Given the description of an element on the screen output the (x, y) to click on. 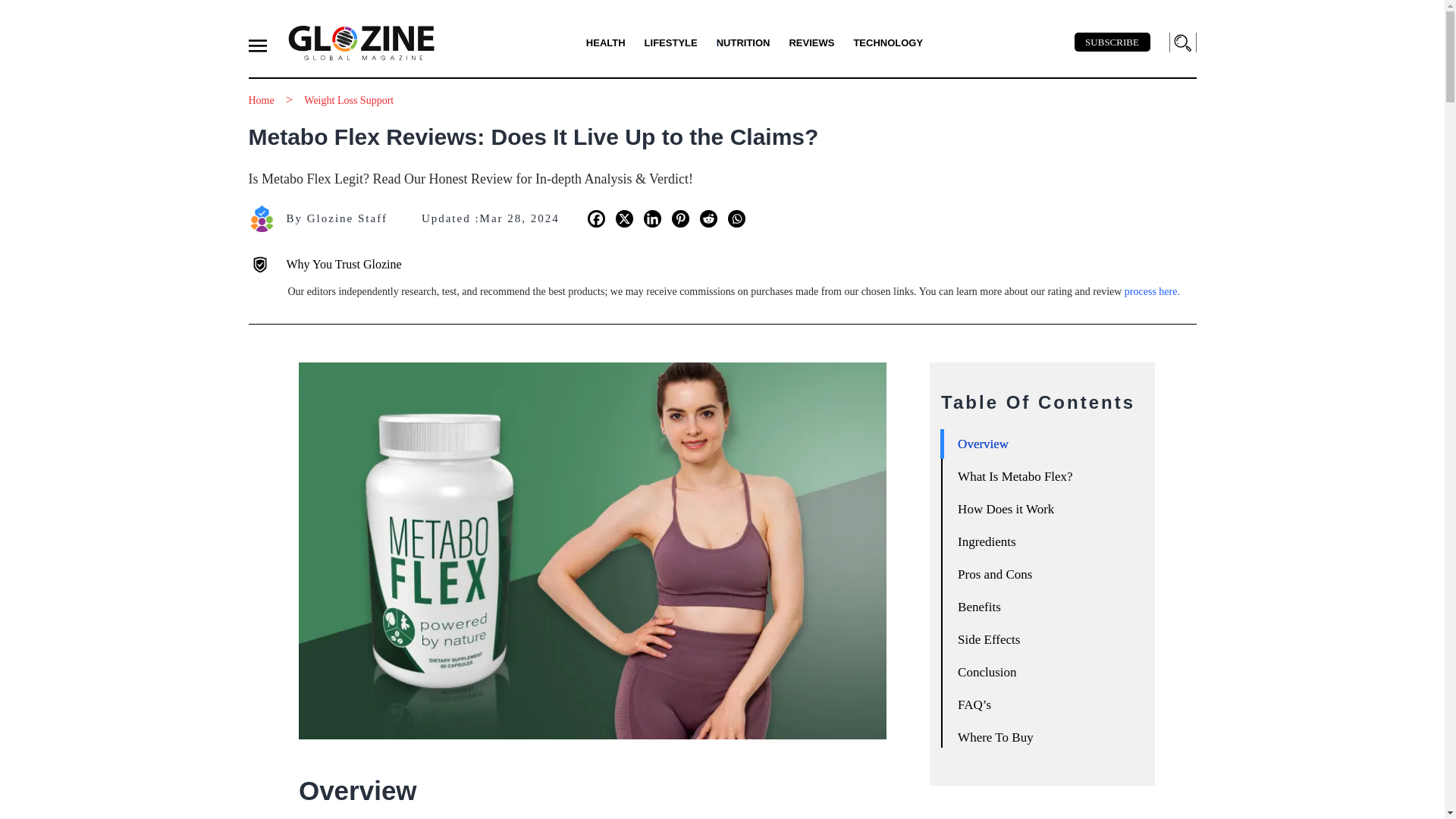
Facebook (596, 218)
What Is Metabo Flex? (1045, 482)
Linkedin (652, 218)
Whatsapp (736, 218)
NUTRITION (743, 42)
X (624, 218)
process here. (1151, 291)
Home (261, 100)
How Does it Work (1045, 515)
Overview (1045, 450)
REVIEWS (811, 42)
SUBSCRIBE (1112, 41)
Pinterest (679, 218)
TECHNOLOGY (888, 42)
HEALTH (606, 42)
